Given the description of an element on the screen output the (x, y) to click on. 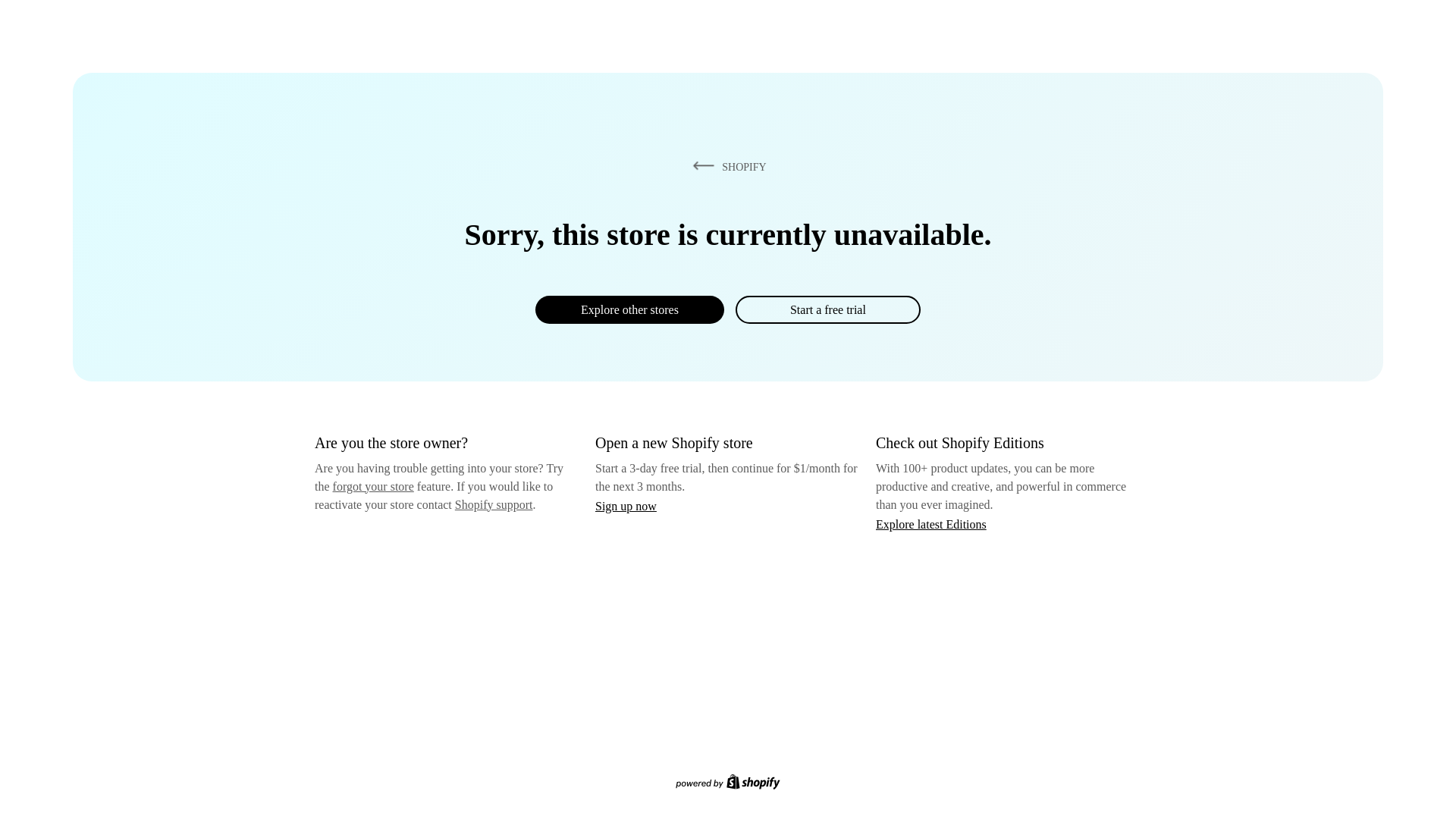
Start a free trial (827, 309)
Shopify support (493, 504)
Sign up now (625, 505)
forgot your store (373, 486)
Explore latest Editions (931, 523)
SHOPIFY (726, 166)
Explore other stores (629, 309)
